Given the description of an element on the screen output the (x, y) to click on. 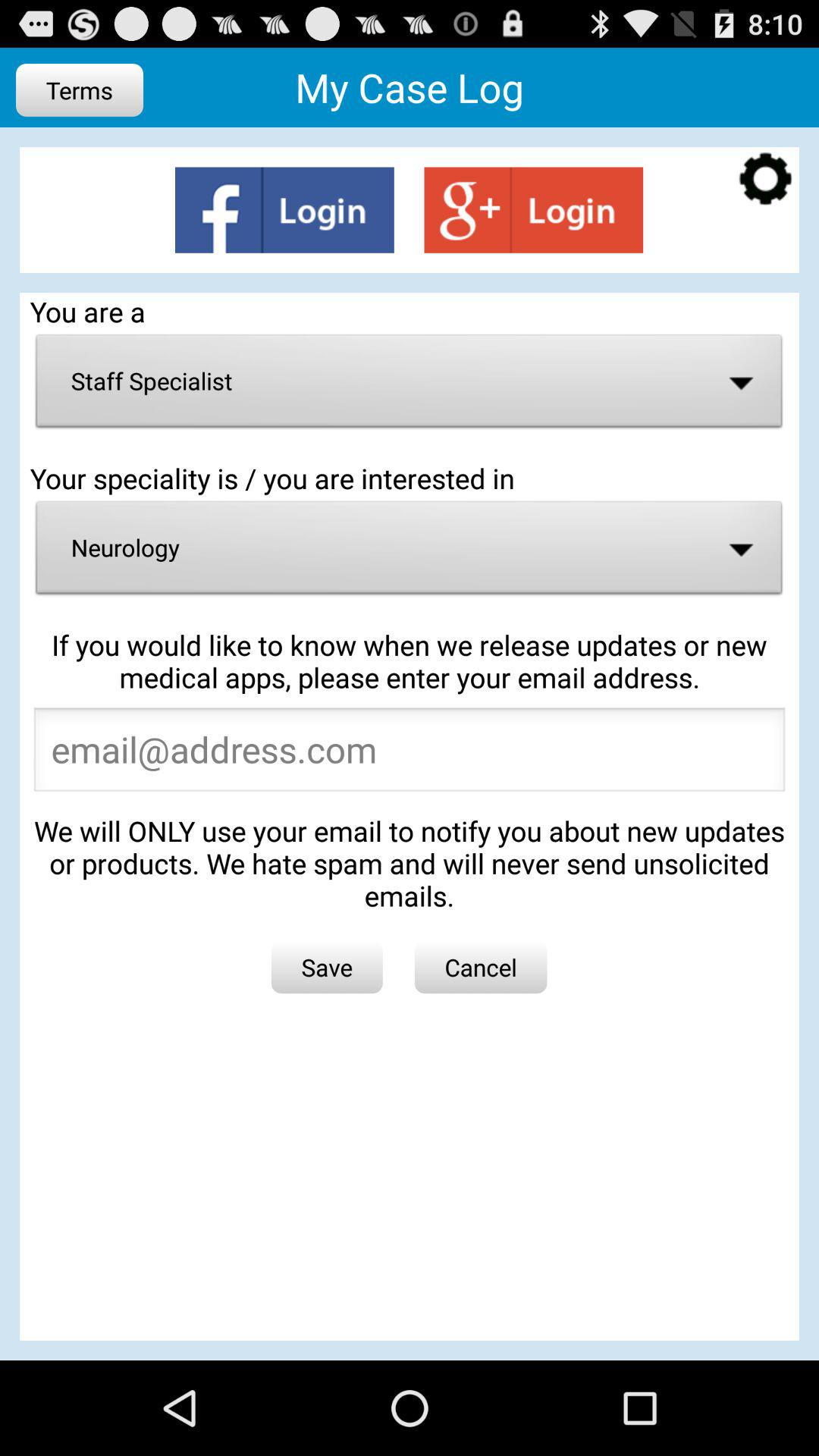
setting the option (765, 180)
